Given the description of an element on the screen output the (x, y) to click on. 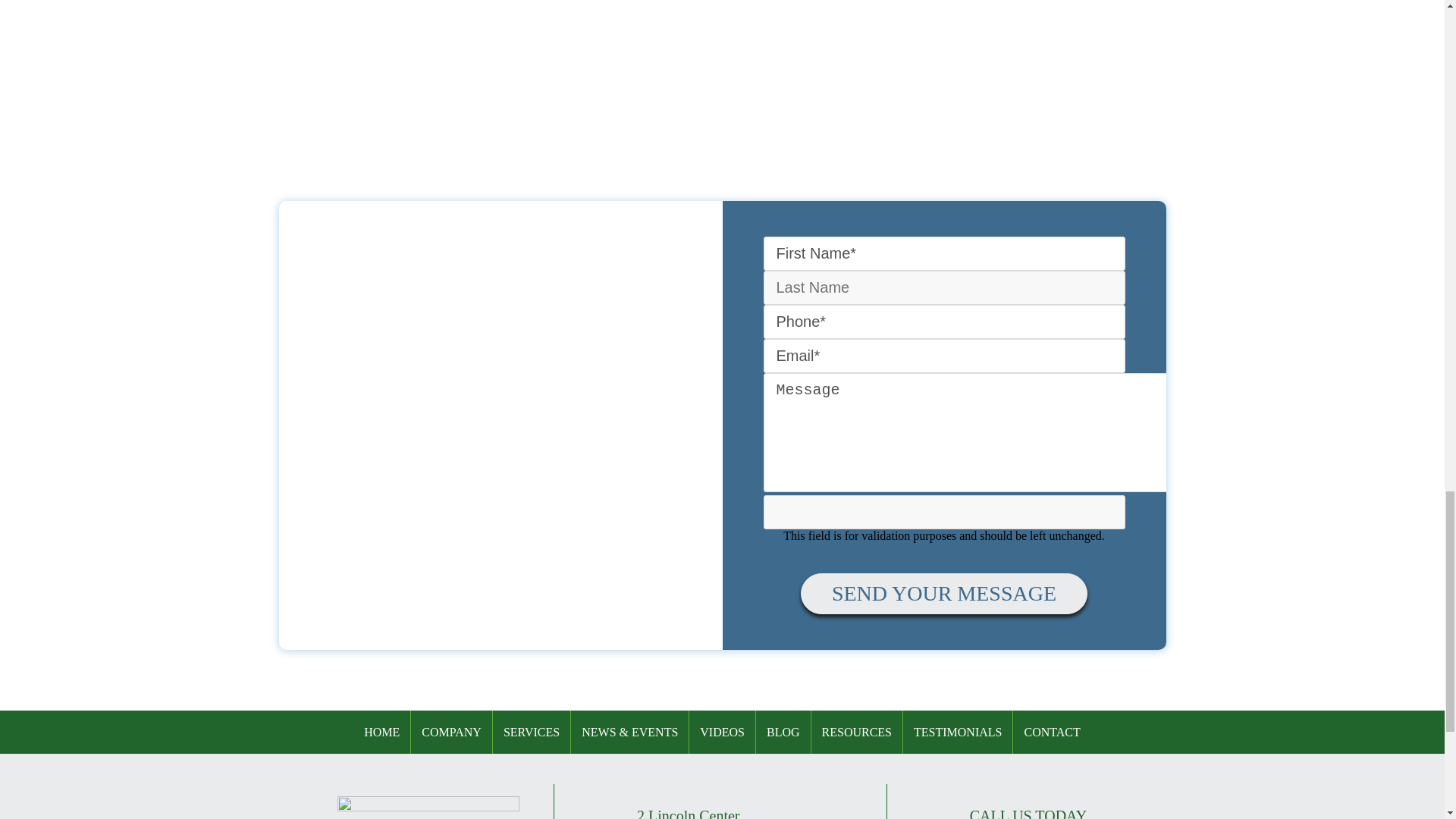
Send Your Message (943, 593)
